Given the description of an element on the screen output the (x, y) to click on. 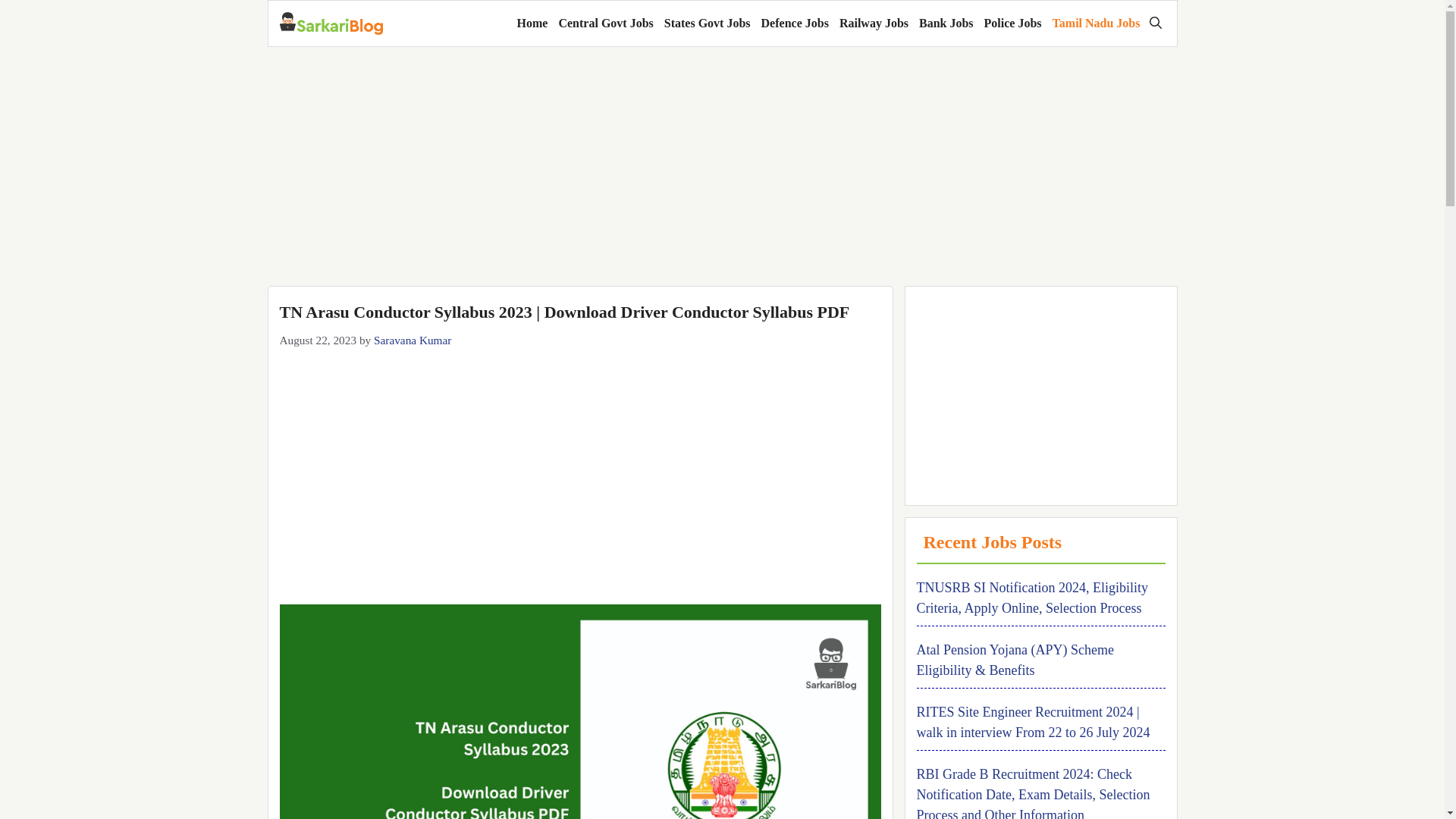
Advertisement (580, 463)
Home (532, 22)
Police Jobs (1012, 22)
View all posts by Saravana Kumar (412, 339)
Railway Jobs (874, 22)
Sarkari Blog: Latest Government Jobs 2024 Notification (330, 23)
Defence Jobs (794, 22)
Central Govt Jobs (605, 22)
TN Arasu Conductor Syllabus 2023 (579, 711)
Tamil Nadu Jobs (1095, 22)
States Govt Jobs (707, 22)
Saravana Kumar (412, 339)
Bank Jobs (946, 22)
